Given the description of an element on the screen output the (x, y) to click on. 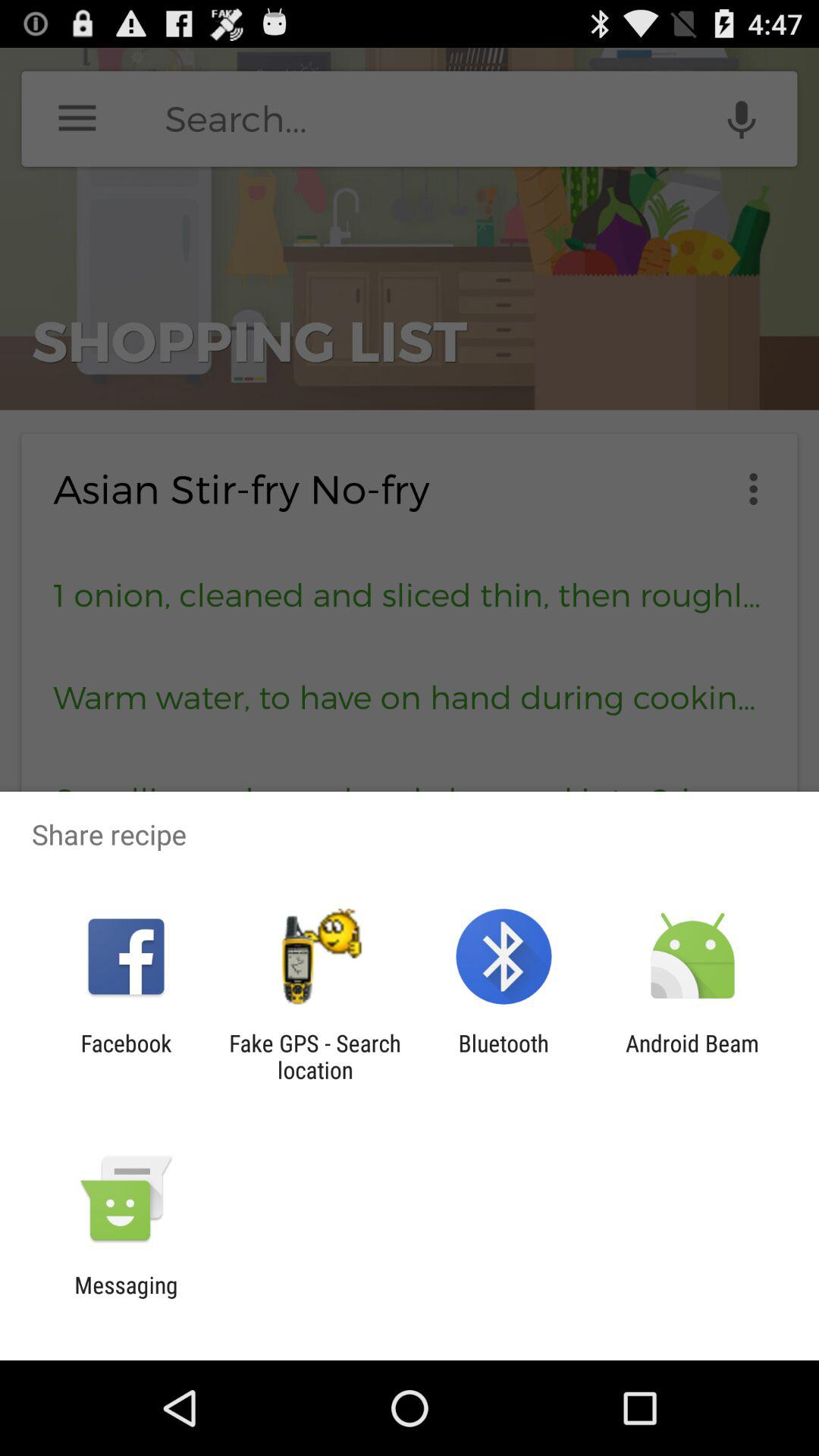
launch icon next to bluetooth (314, 1056)
